Given the description of an element on the screen output the (x, y) to click on. 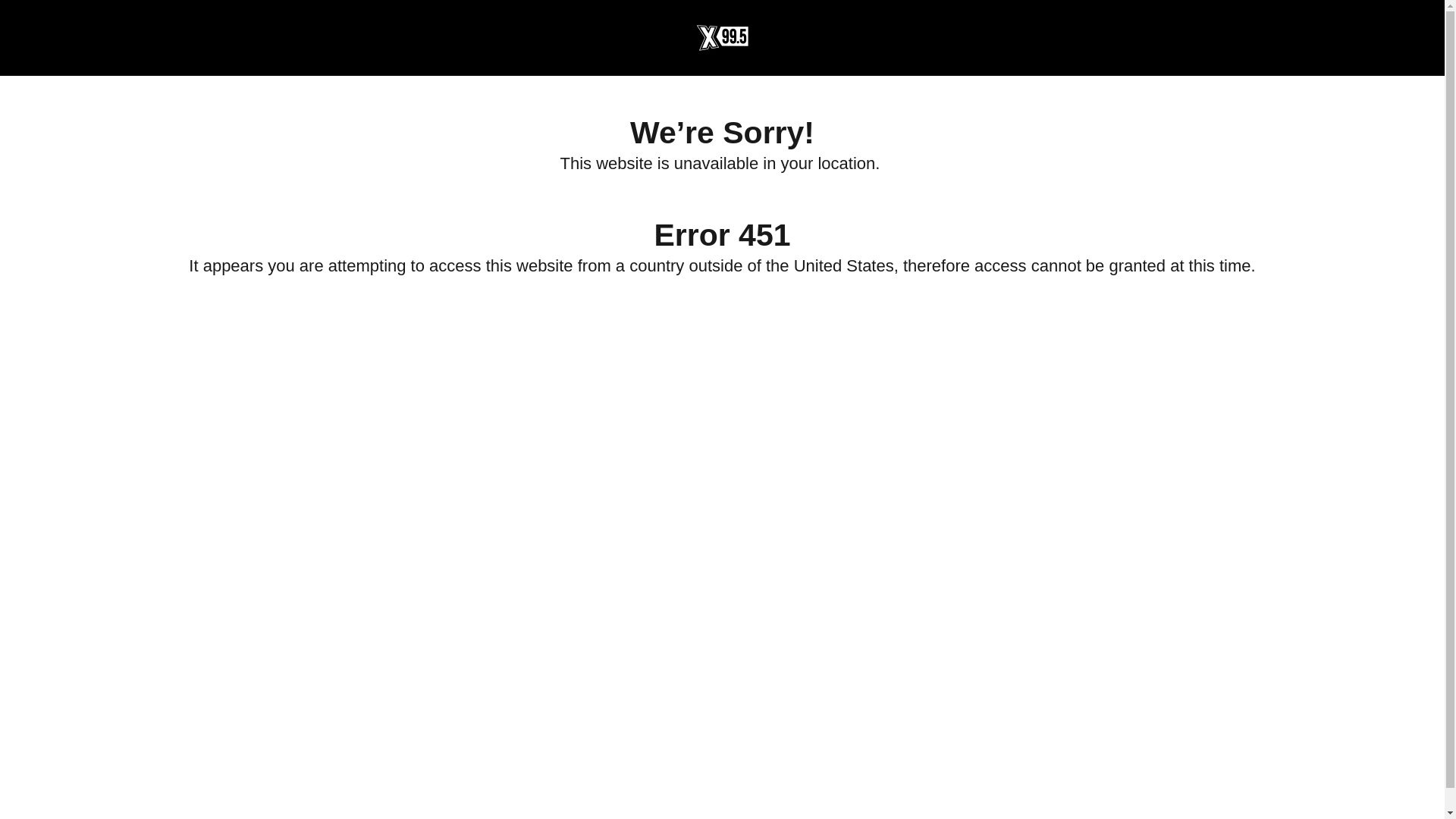
X99.5 (721, 37)
